Given the description of an element on the screen output the (x, y) to click on. 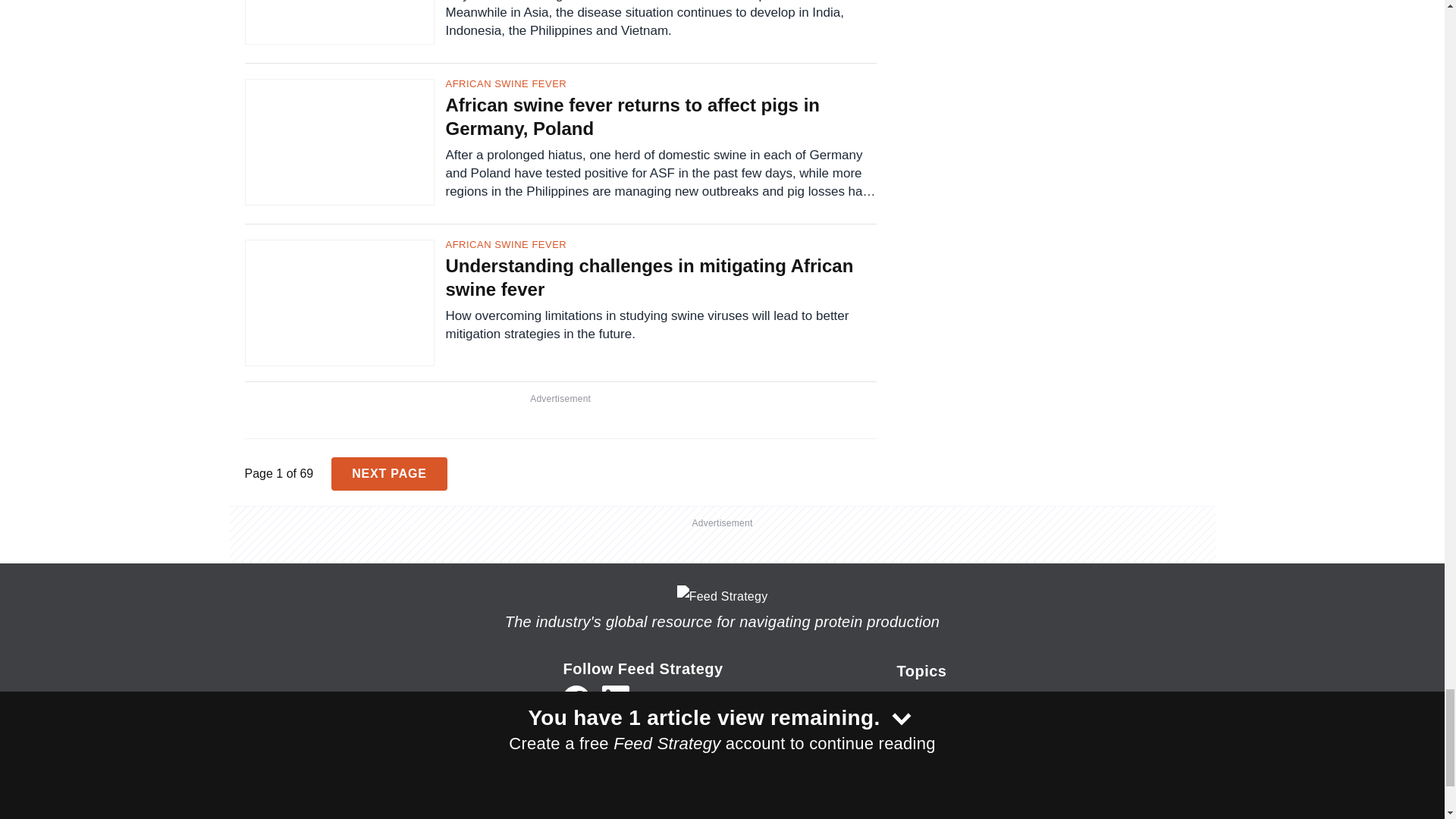
LinkedIn icon (615, 698)
Facebook icon (575, 698)
